Given the description of an element on the screen output the (x, y) to click on. 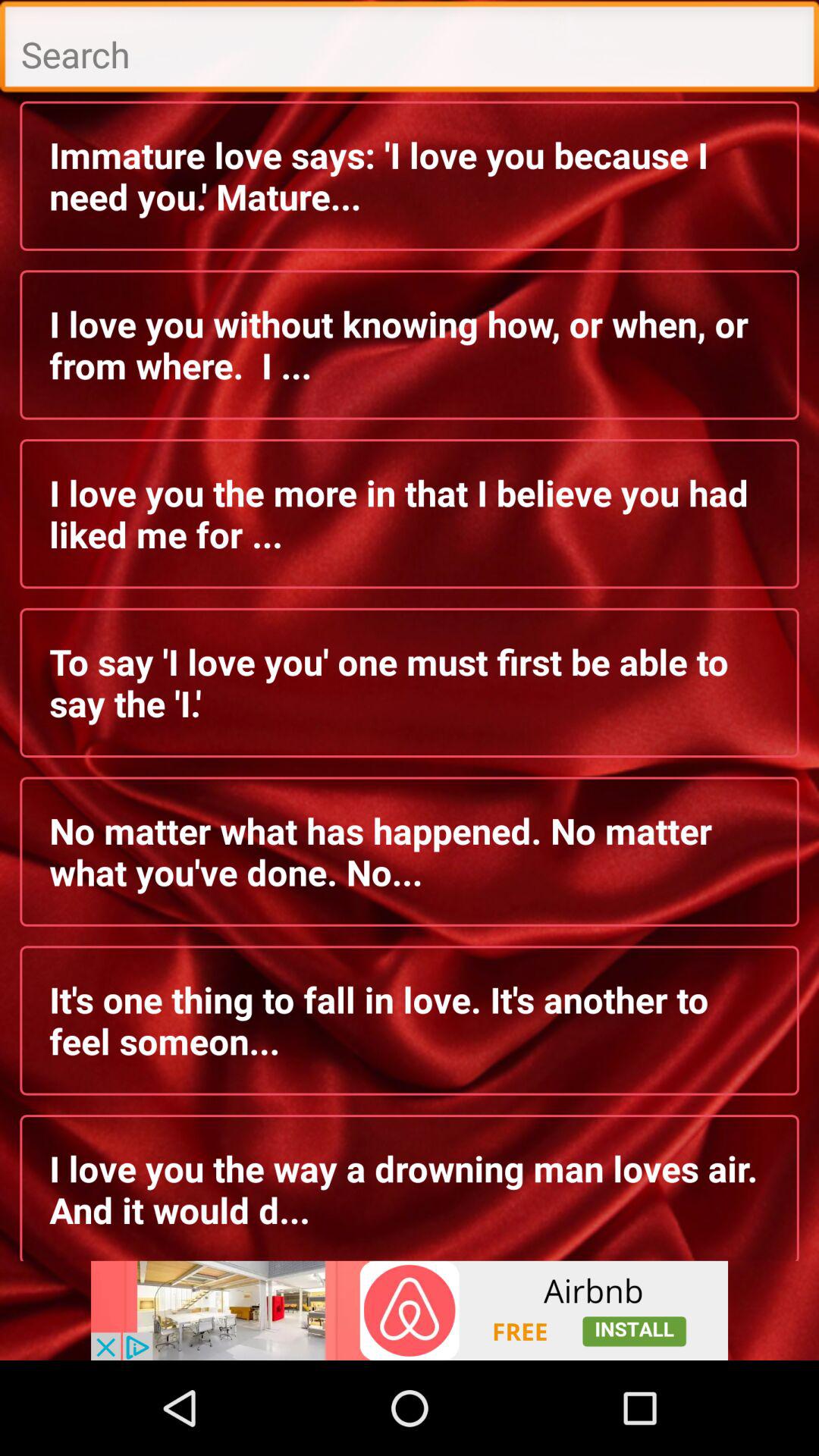
more information about an advertisement (409, 1310)
